Given the description of an element on the screen output the (x, y) to click on. 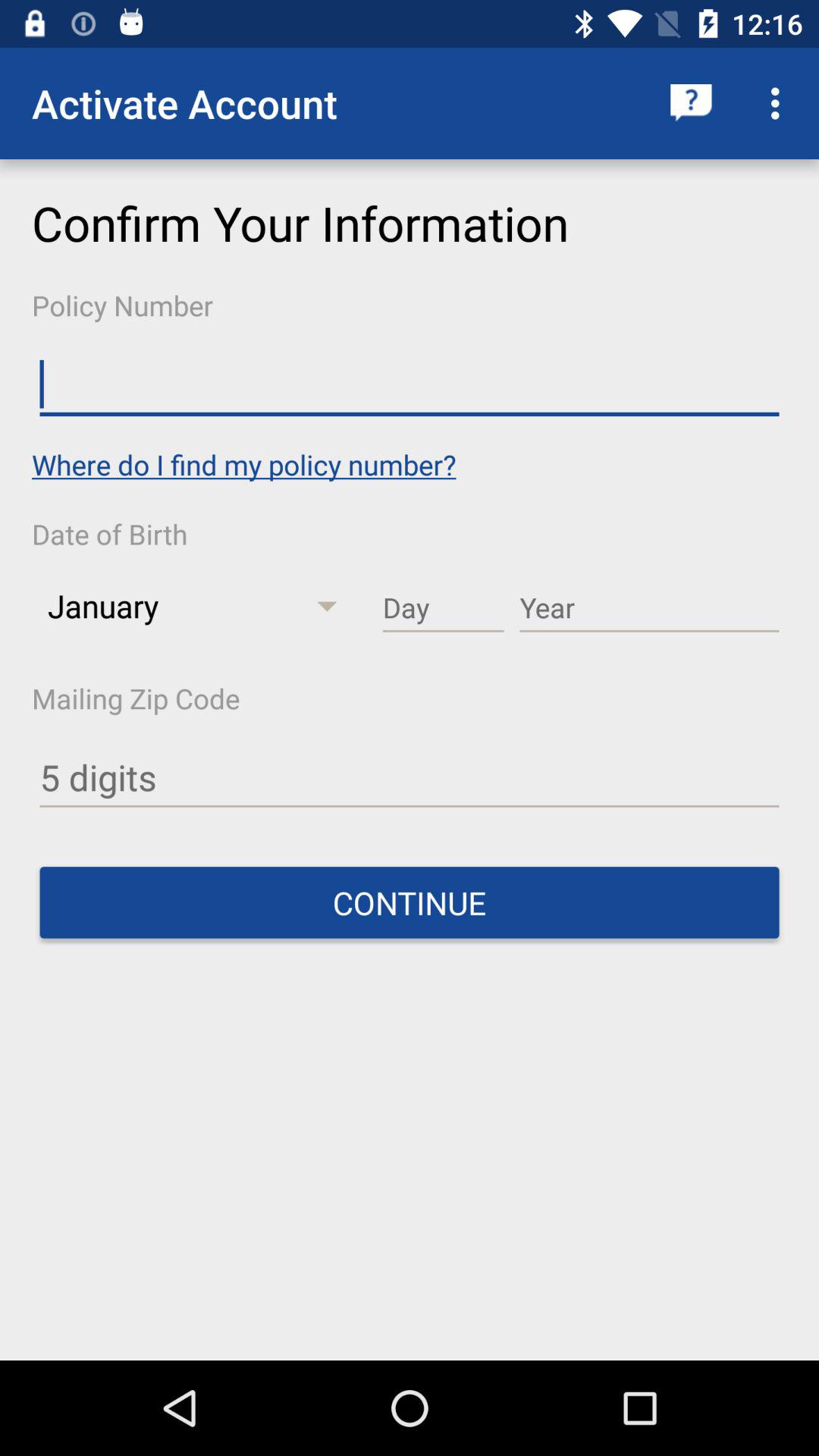
open icon below policy number icon (409, 384)
